Given the description of an element on the screen output the (x, y) to click on. 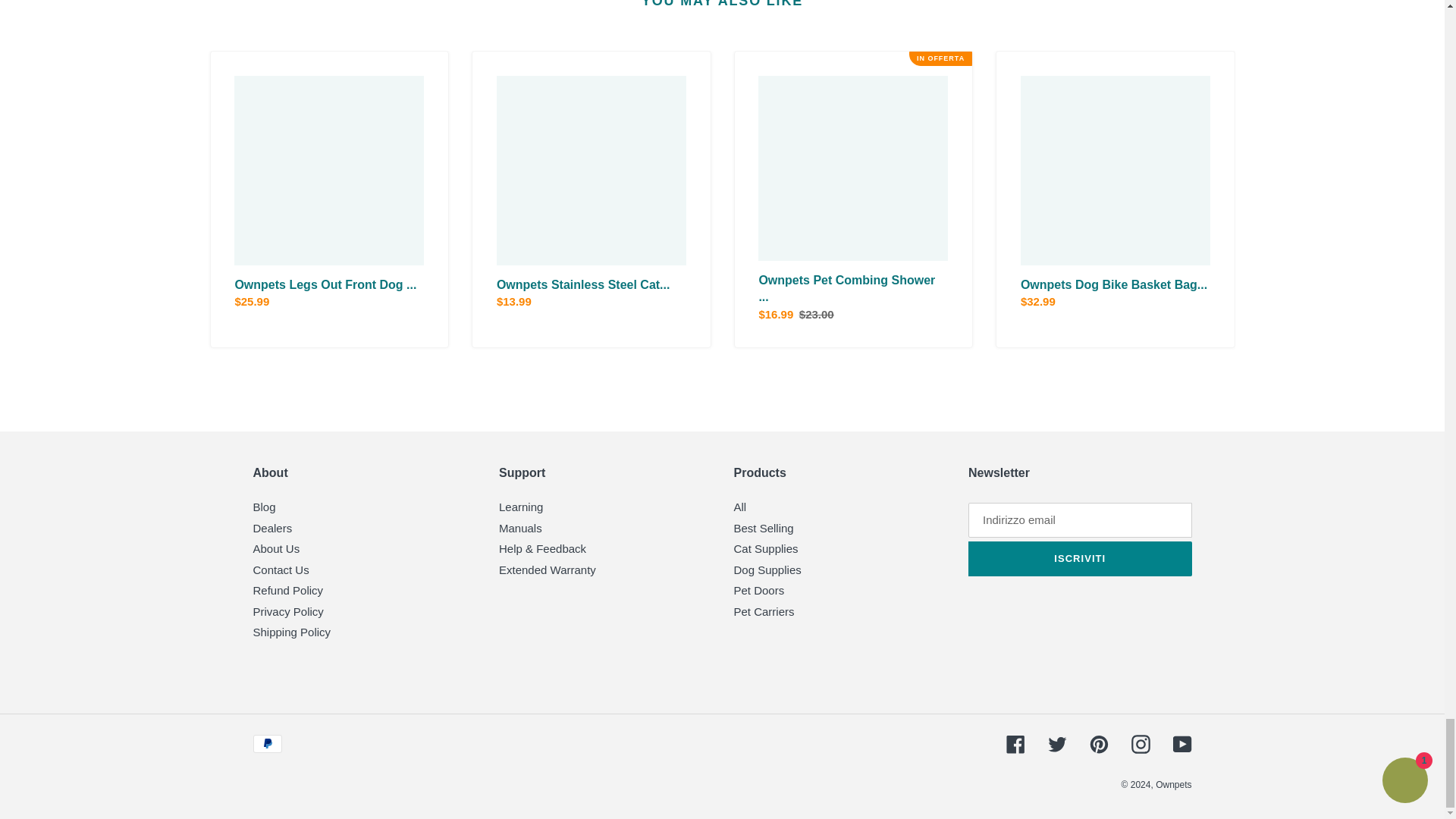
paypal (267, 743)
